Given the description of an element on the screen output the (x, y) to click on. 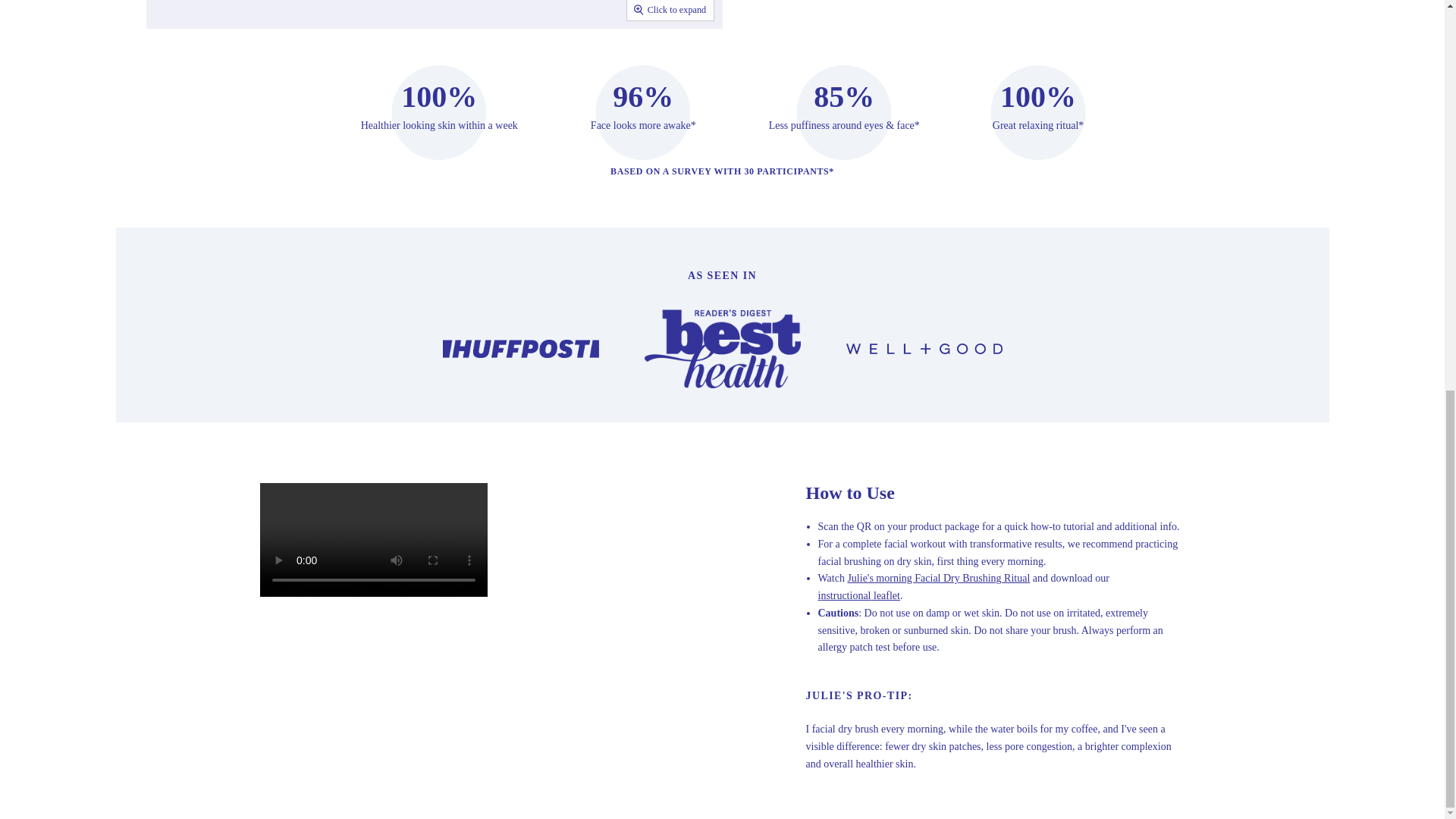
Facial Dry Brushing Ritual leaflet (884, 595)
Facial Dry Brushing Ritual (845, 595)
Facial Dry Brushing Ritual (938, 577)
